Given the description of an element on the screen output the (x, y) to click on. 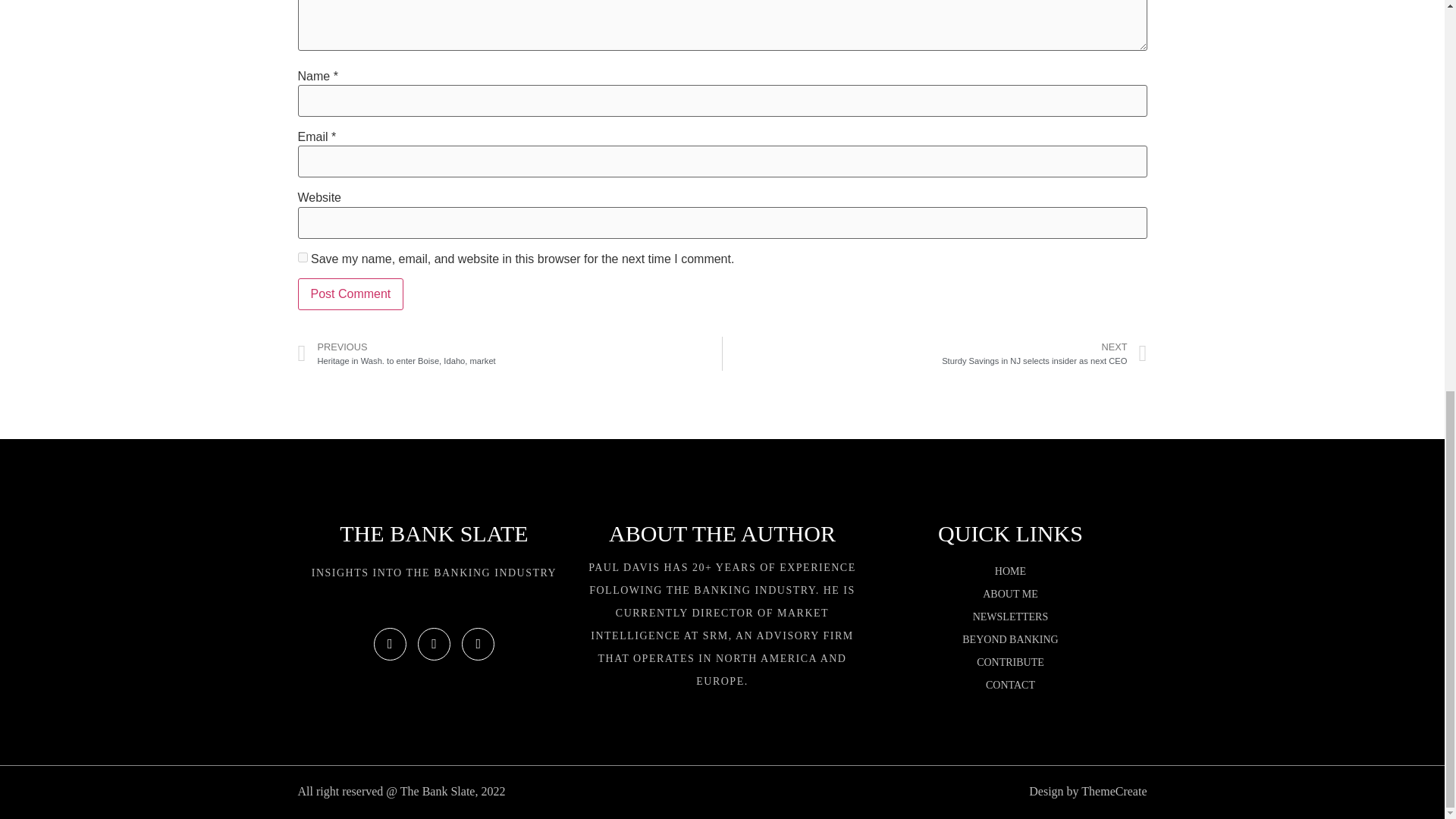
ABOUT ME (1010, 594)
Post Comment (350, 294)
NEWSLETTERS (1010, 617)
CONTRIBUTE (1010, 662)
CONTACT (509, 353)
BEYOND BANKING (1010, 685)
Post Comment (1010, 639)
HOME (1044, 353)
